Given the description of an element on the screen output the (x, y) to click on. 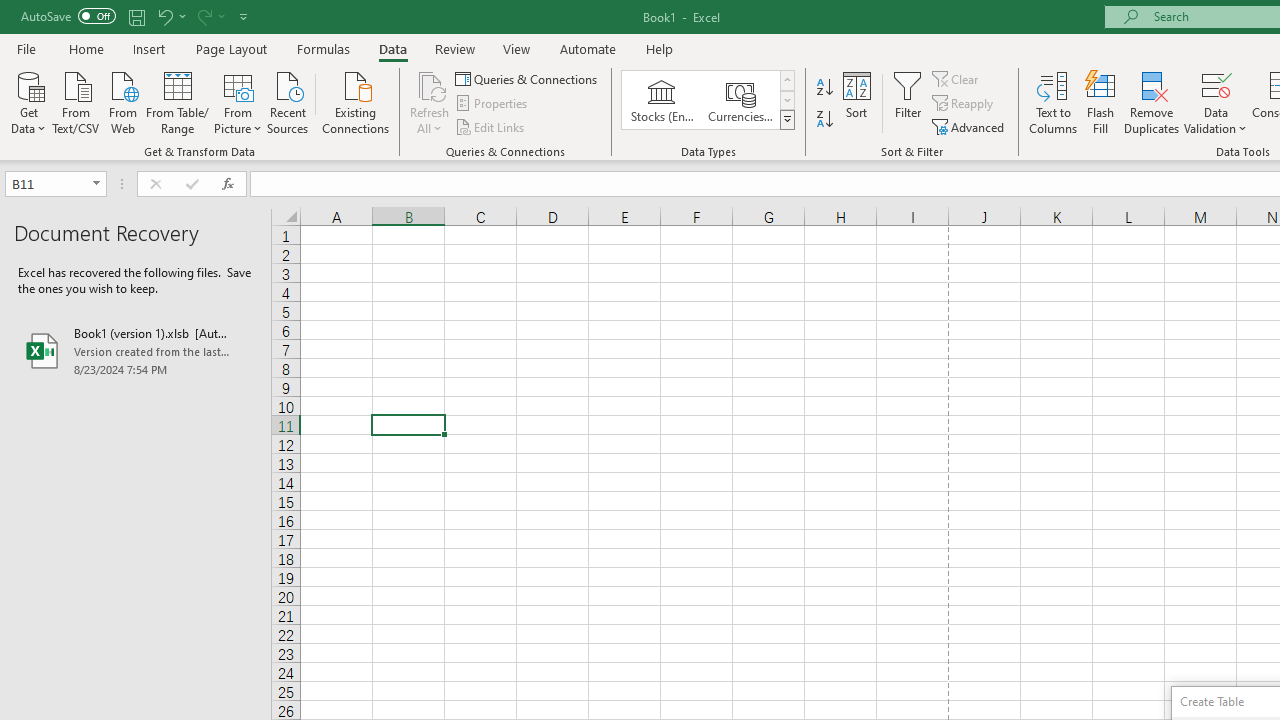
Sort Z to A (824, 119)
